Given the description of an element on the screen output the (x, y) to click on. 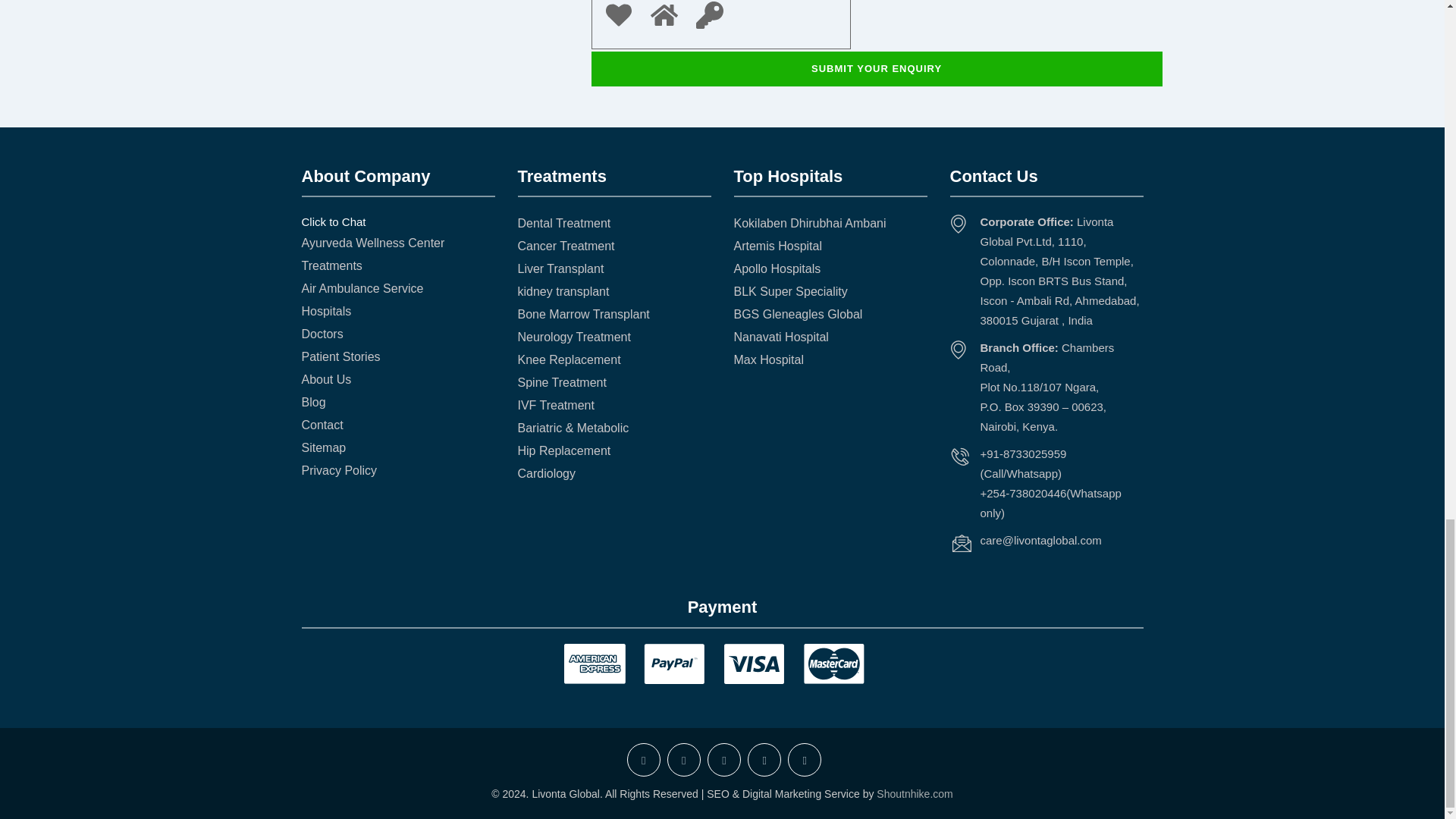
Submit your enquiry (876, 68)
Click to Call (1050, 502)
Click to Call (1022, 463)
